Given the description of an element on the screen output the (x, y) to click on. 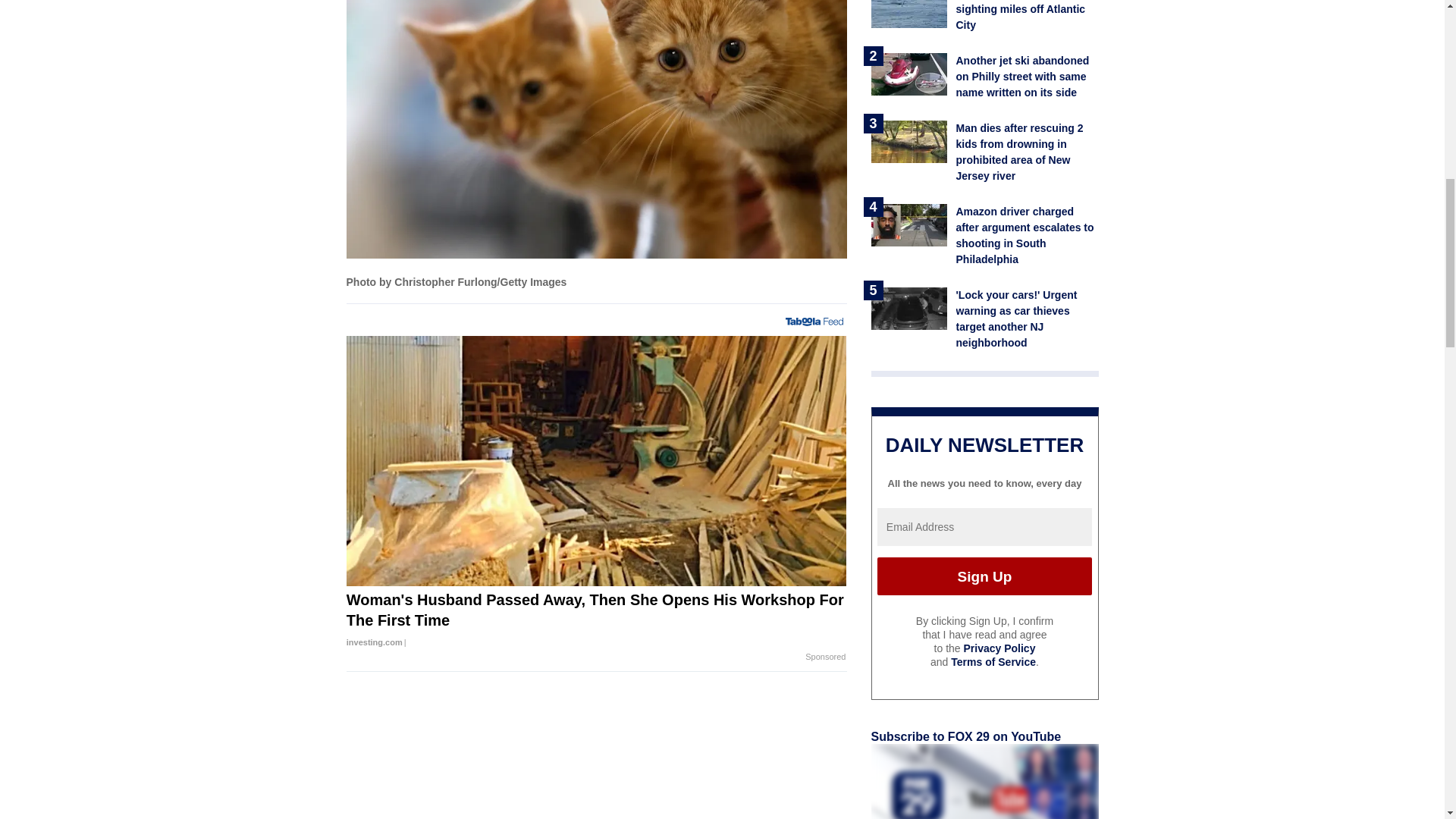
Sign Up (984, 576)
